Given the description of an element on the screen output the (x, y) to click on. 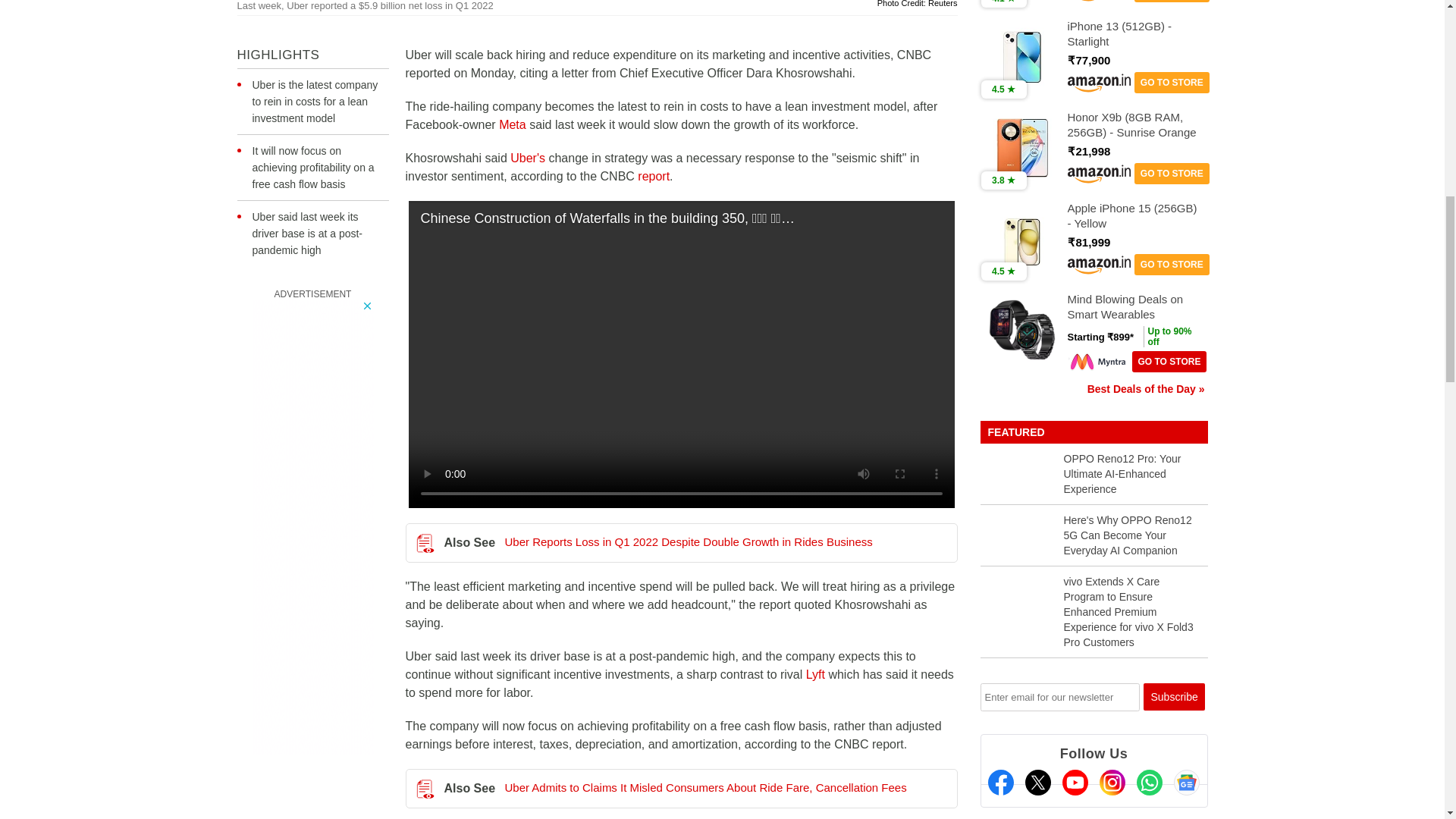
Subscribe (1173, 696)
